Given the description of an element on the screen output the (x, y) to click on. 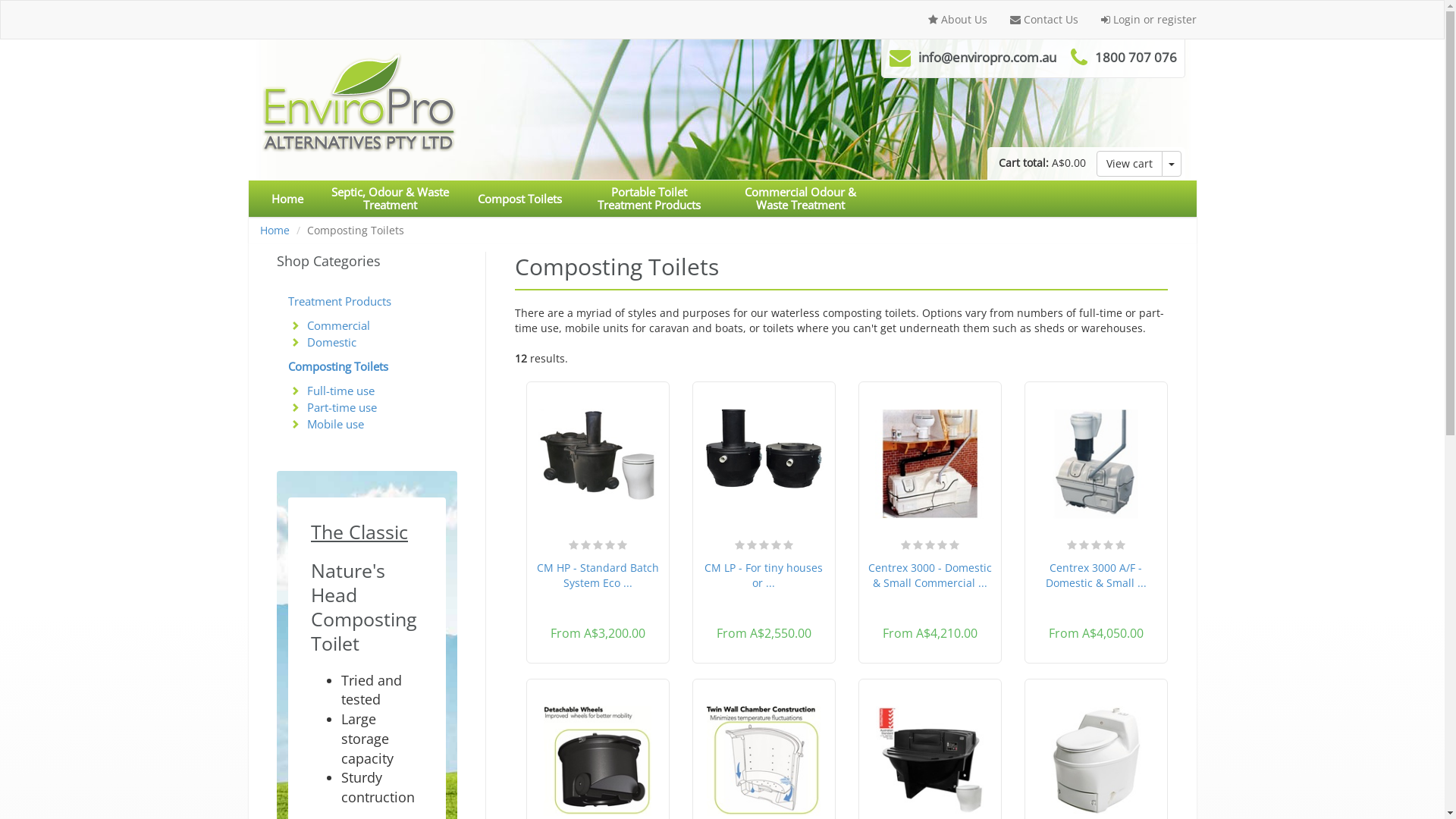
CM HP - Standard Batch System Eco ... Element type: text (597, 574)
View cart Element type: text (1129, 163)
Home Element type: text (286, 198)
info@enviropro.com.au Element type: text (986, 56)
Full-time use Element type: text (340, 390)
Compost Toilets Element type: text (518, 198)
Commercial Odour & Waste Treatment Element type: text (800, 198)
Treatment Products Element type: text (366, 300)
Septic, Odour & Waste Treatment Element type: text (389, 198)
1800 707 076 Element type: text (1135, 56)
Domestic Element type: text (331, 341)
Part-time use Element type: text (341, 406)
Composting Toilets Element type: text (366, 366)
Mobile use Element type: text (335, 423)
Login or register Element type: text (1147, 19)
About Us Element type: text (956, 19)
Contact Us Element type: text (1042, 19)
Centrex 3000 A/F - Domestic & Small ... Element type: text (1095, 574)
Portable Toilet Treatment Products Element type: text (648, 198)
Commercial Element type: text (338, 324)
Home Element type: text (273, 229)
Centrex 3000 - Domestic & Small Commercial ... Element type: text (929, 574)
CM LP - For tiny houses or ... Element type: text (763, 574)
